Given the description of an element on the screen output the (x, y) to click on. 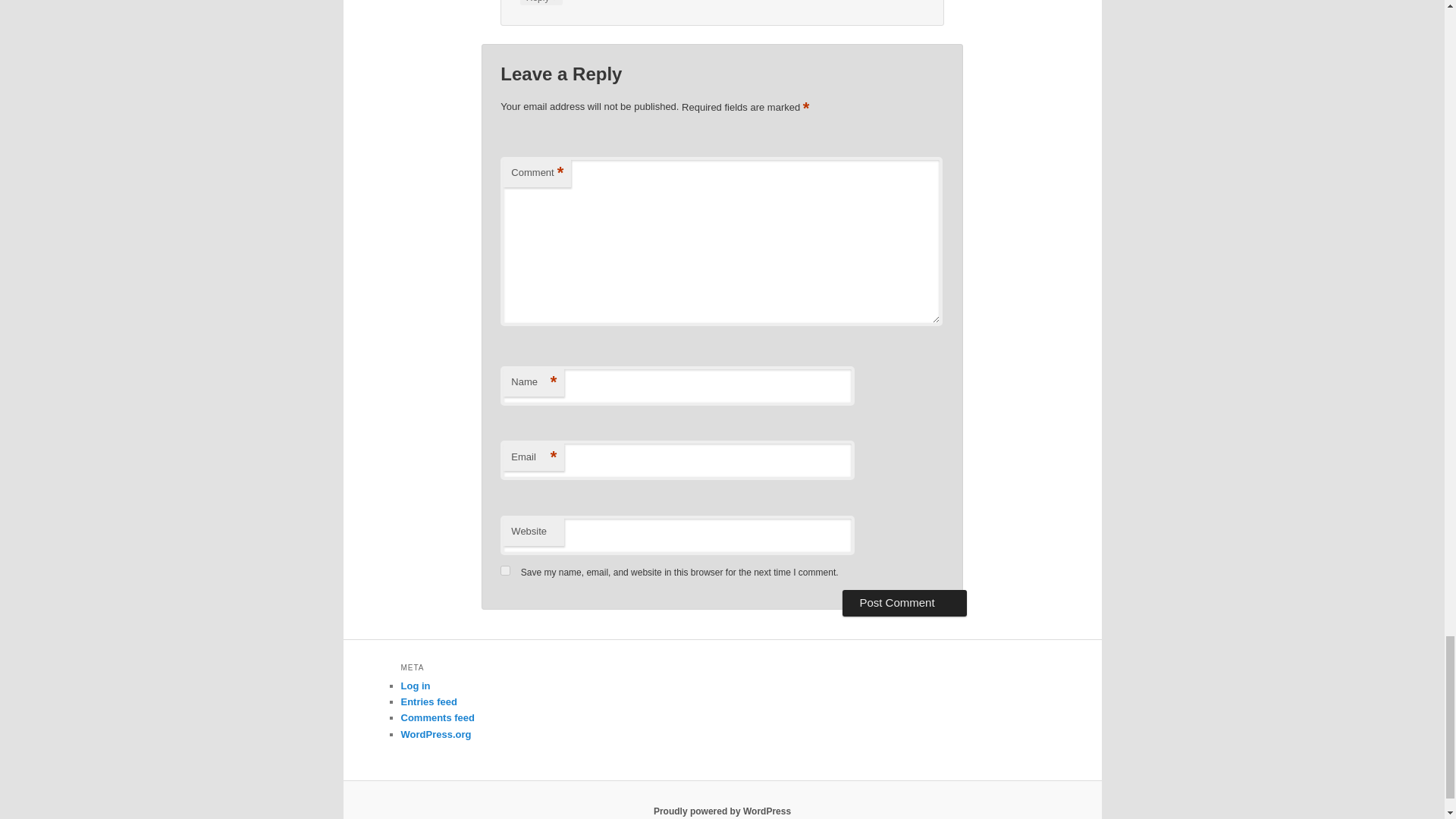
Post Comment (904, 602)
Semantic Personal Publishing Platform (721, 810)
yes (505, 570)
